Given the description of an element on the screen output the (x, y) to click on. 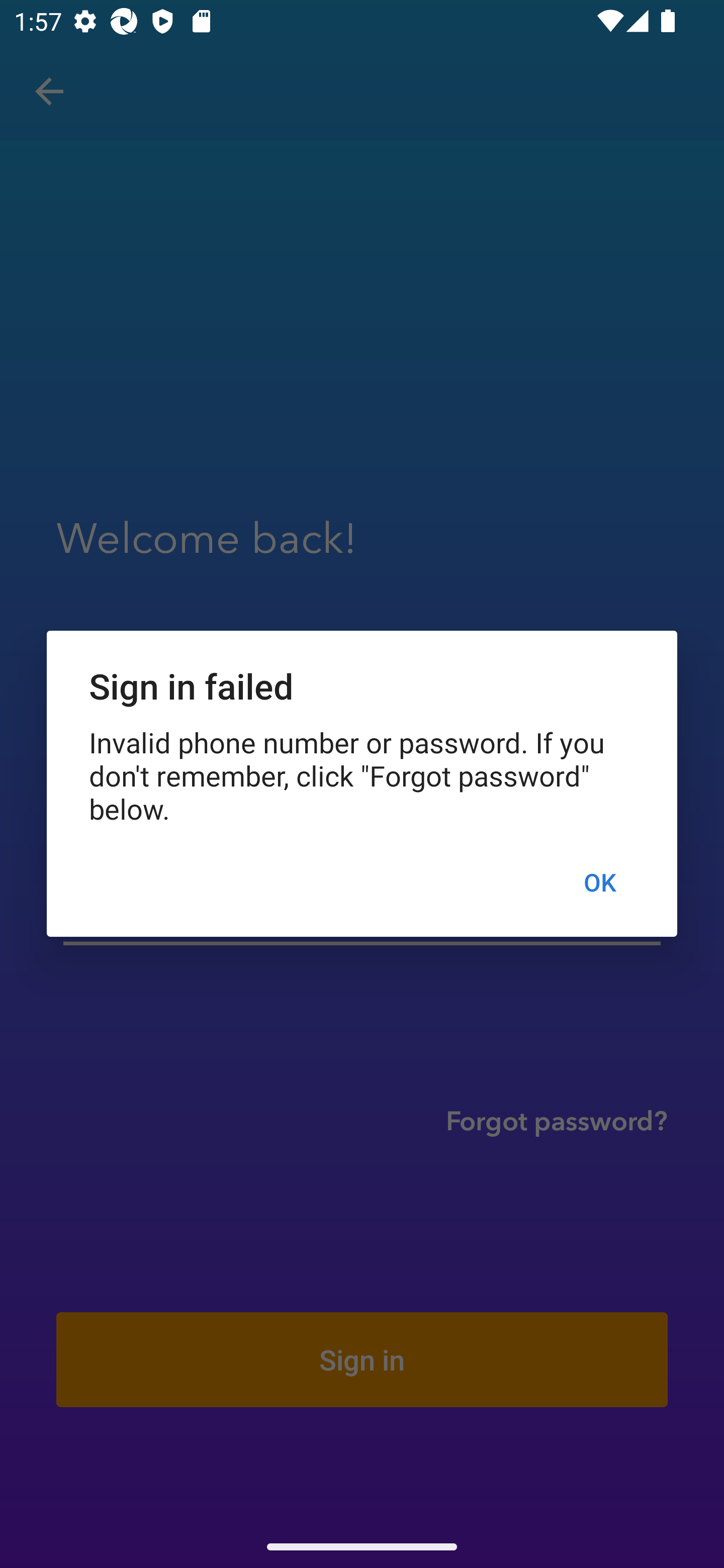
OK (599, 881)
